Given the description of an element on the screen output the (x, y) to click on. 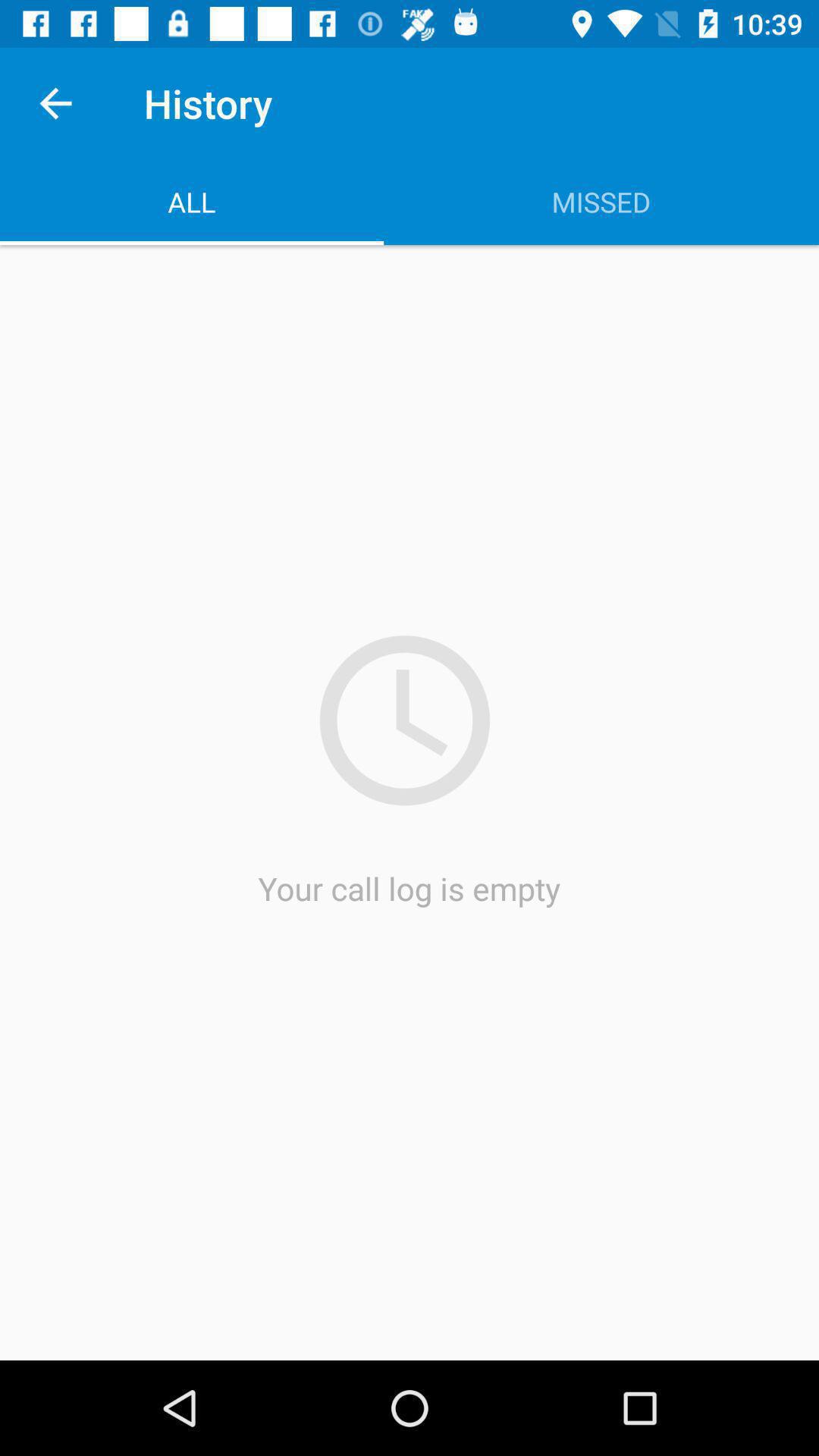
launch icon to the right of all icon (601, 202)
